Given the description of an element on the screen output the (x, y) to click on. 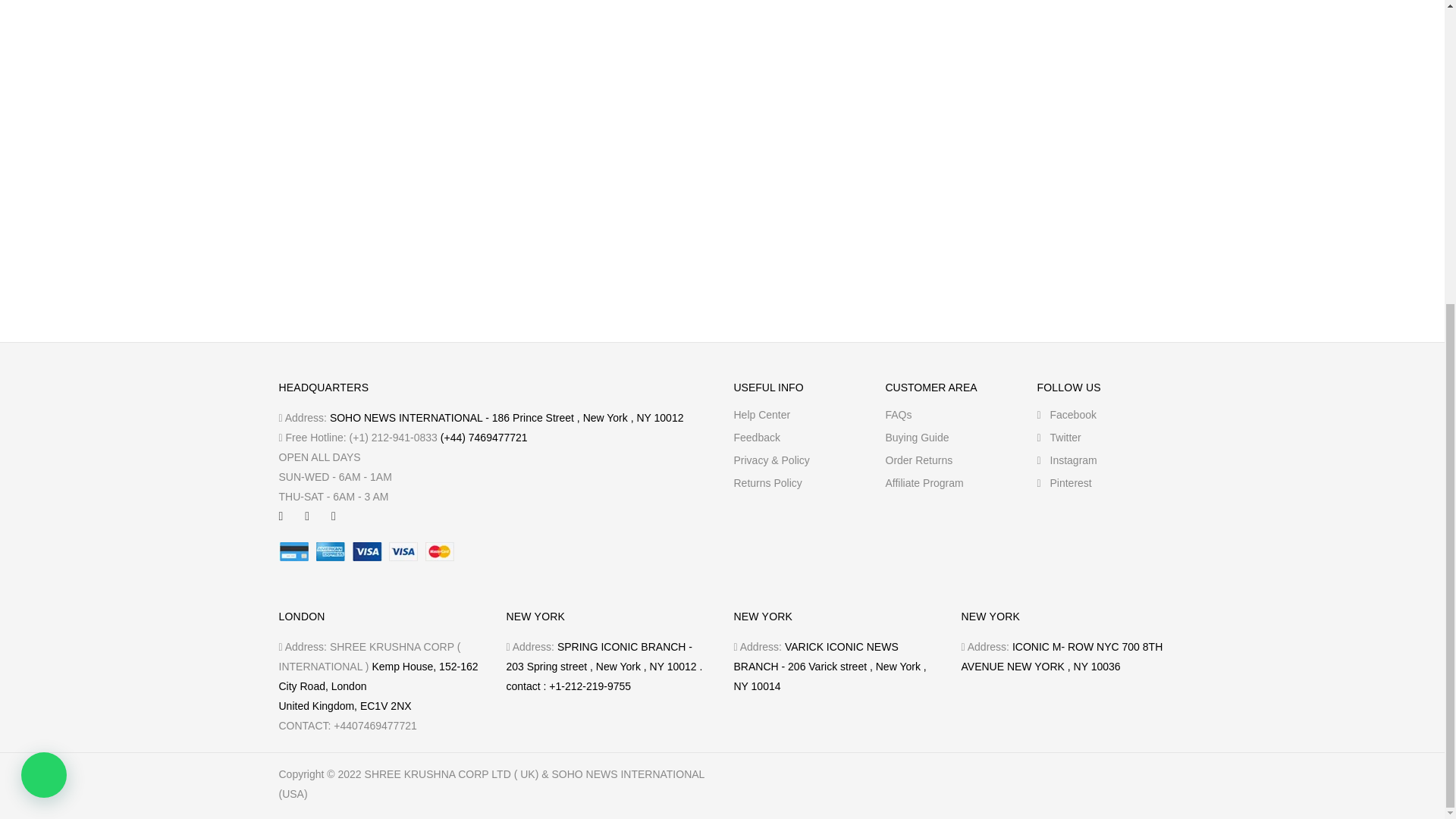
payments (366, 551)
